Given the description of an element on the screen output the (x, y) to click on. 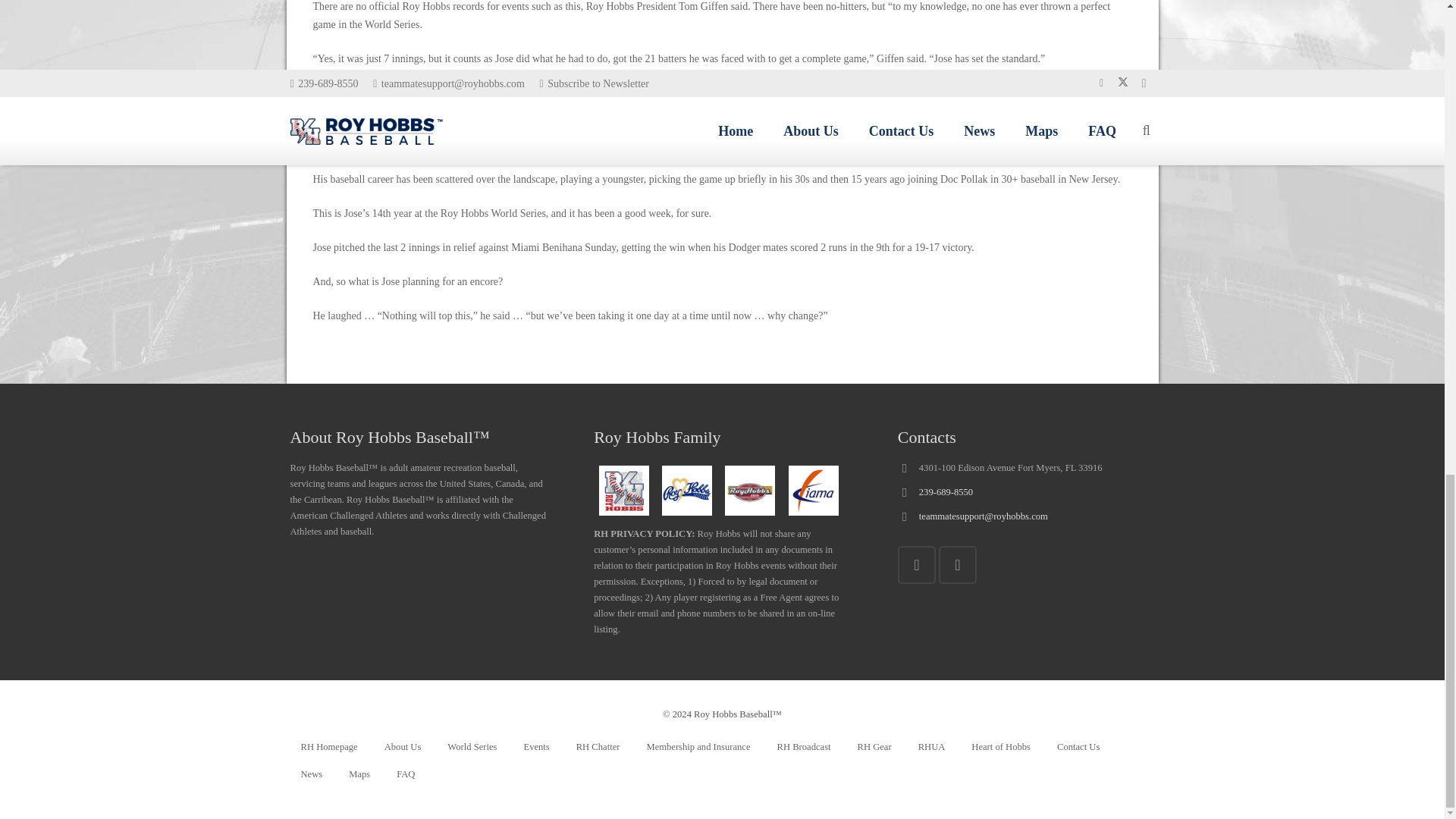
Membership and Insurance (697, 747)
RH Homepage (327, 747)
RH Chatter (598, 747)
239-689-8550 (945, 491)
Facebook (957, 564)
Email (917, 564)
About Us (403, 747)
Events (535, 747)
World Series (471, 747)
